Given the description of an element on the screen output the (x, y) to click on. 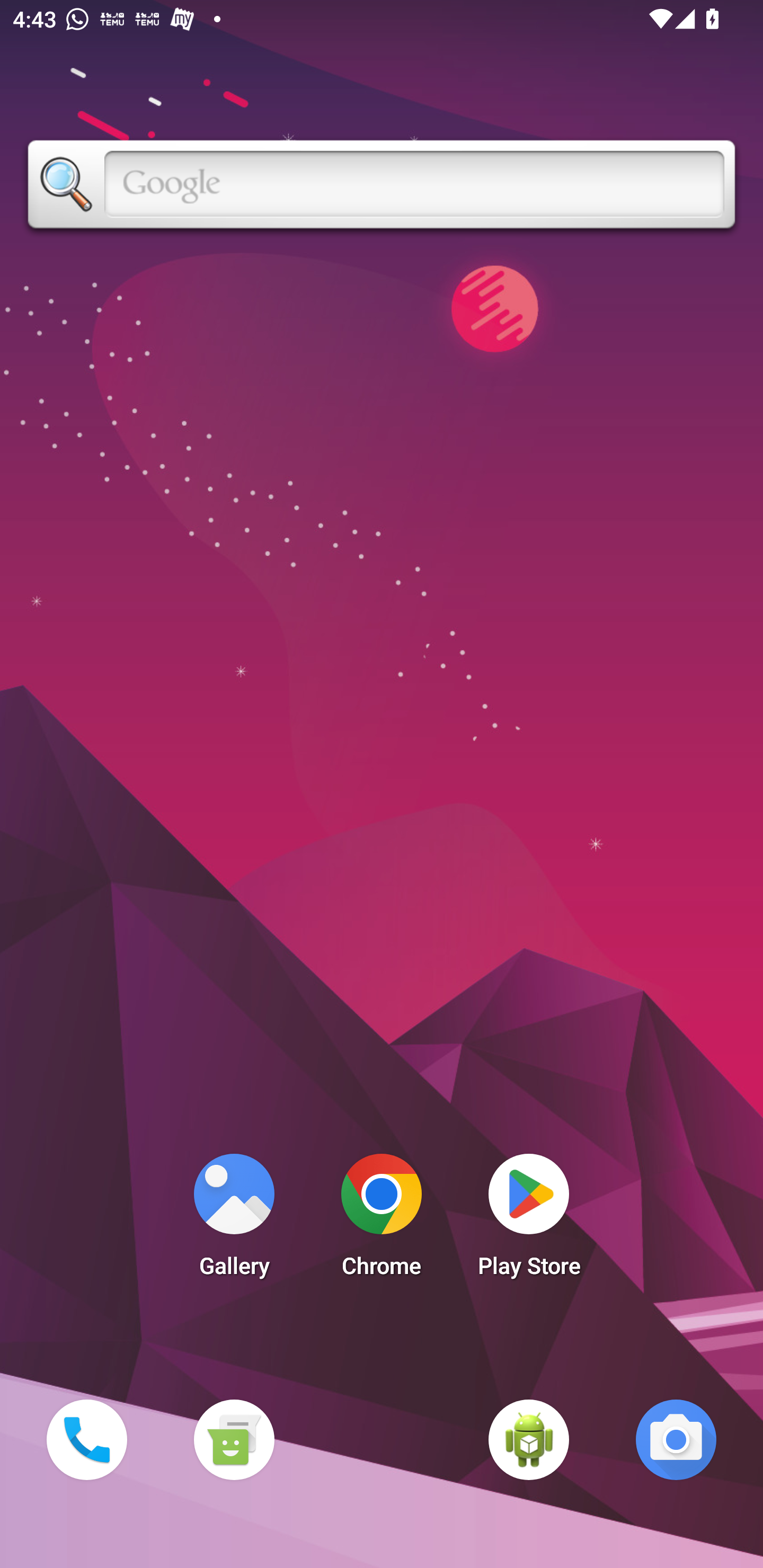
Gallery (233, 1220)
Chrome (381, 1220)
Play Store (528, 1220)
Phone (86, 1439)
Messaging (233, 1439)
WebView Browser Tester (528, 1439)
Camera (676, 1439)
